Given the description of an element on the screen output the (x, y) to click on. 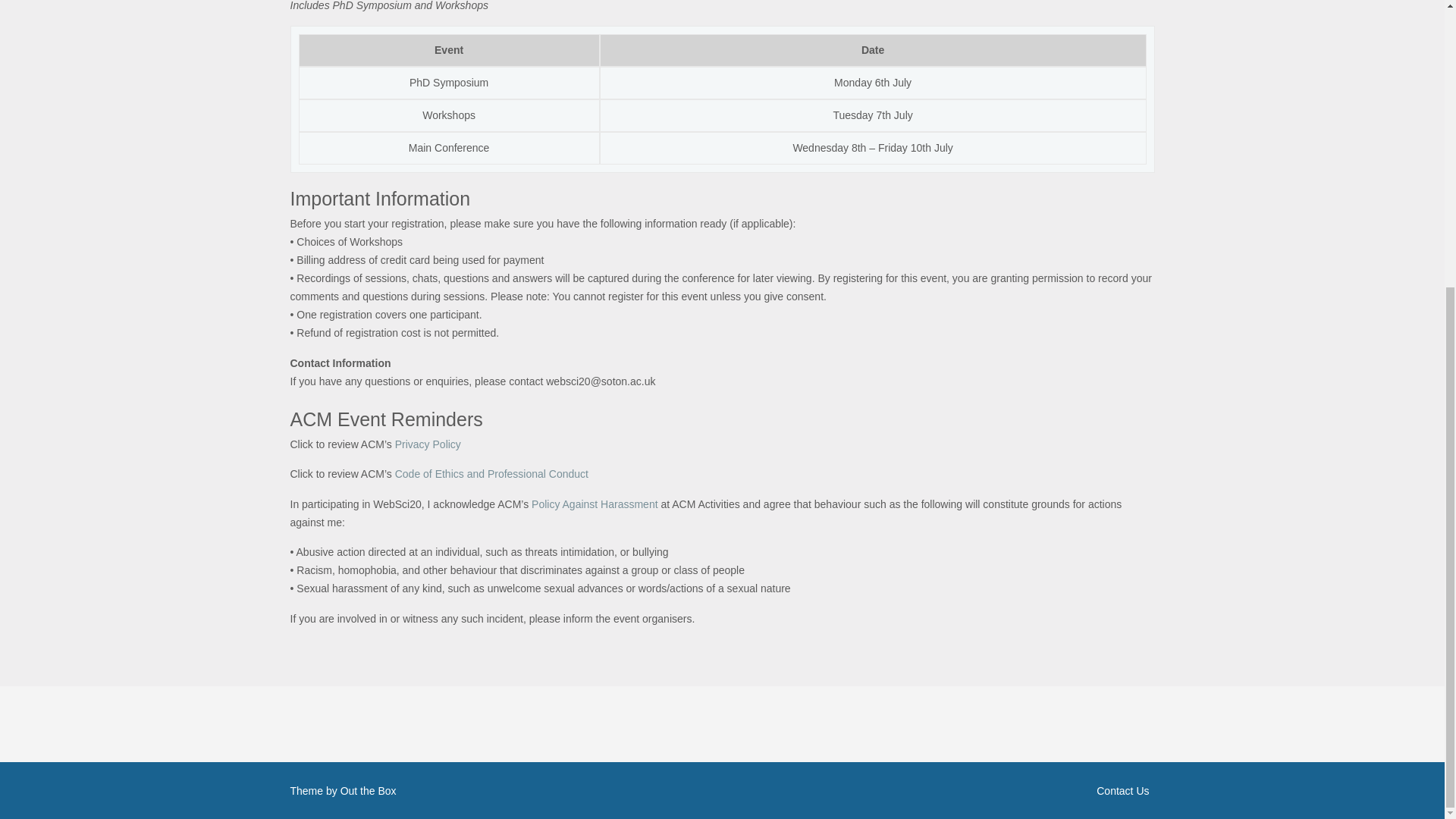
Out the Box (368, 790)
Contact Us (946, 790)
Privacy Policy (427, 444)
Code of Ethics and Professional Conduct (491, 473)
Policy Against Harassment (594, 503)
